Given the description of an element on the screen output the (x, y) to click on. 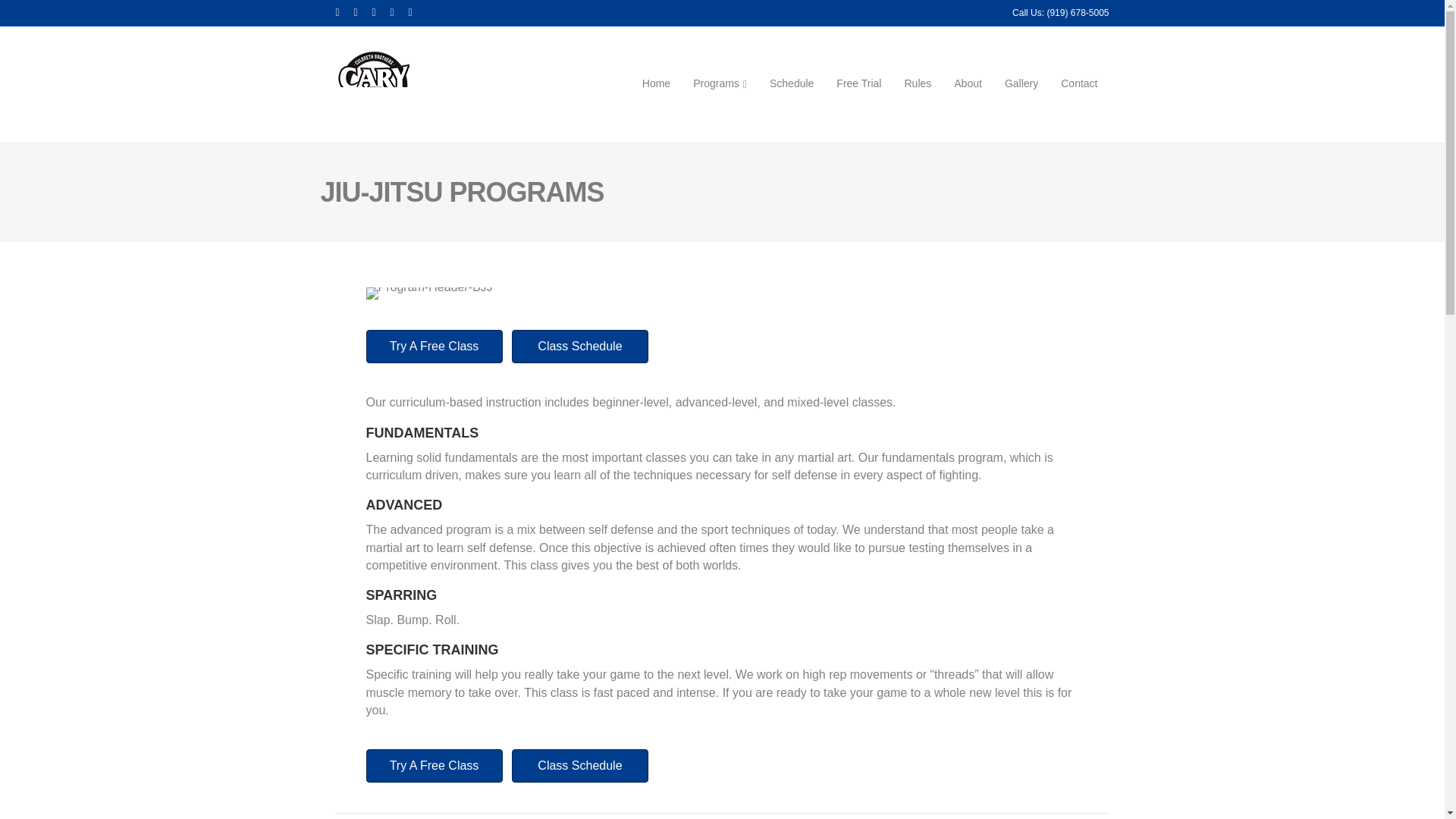
Program-Header-BJJ (428, 293)
Rules (917, 84)
Try A Free Class (433, 346)
Contact (1078, 84)
Class Schedule (579, 765)
Email (416, 11)
Youtube (380, 11)
Programs (719, 84)
Home (655, 84)
Facebook (343, 11)
